Given the description of an element on the screen output the (x, y) to click on. 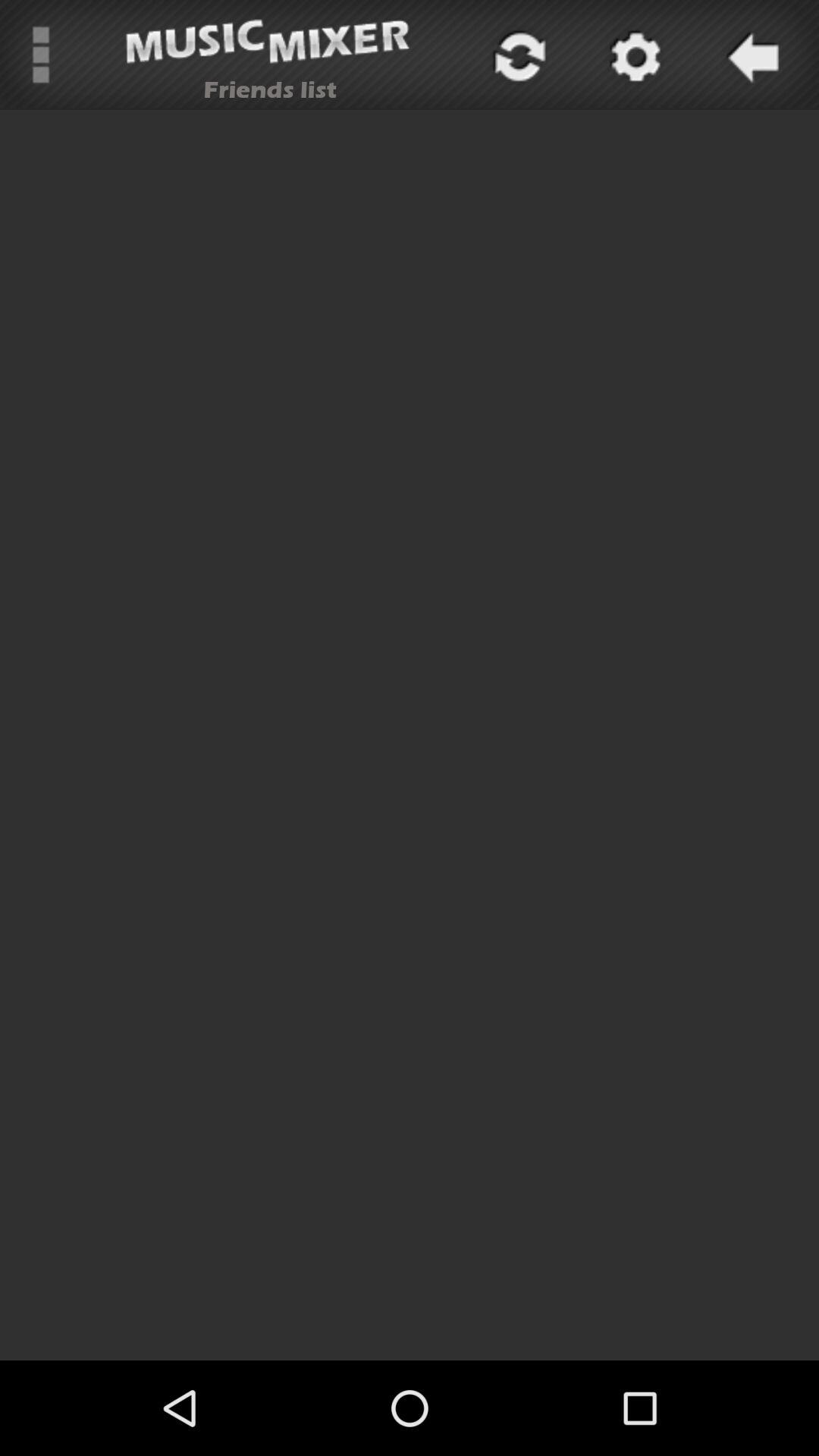
turn off icon at the top (516, 54)
